Given the description of an element on the screen output the (x, y) to click on. 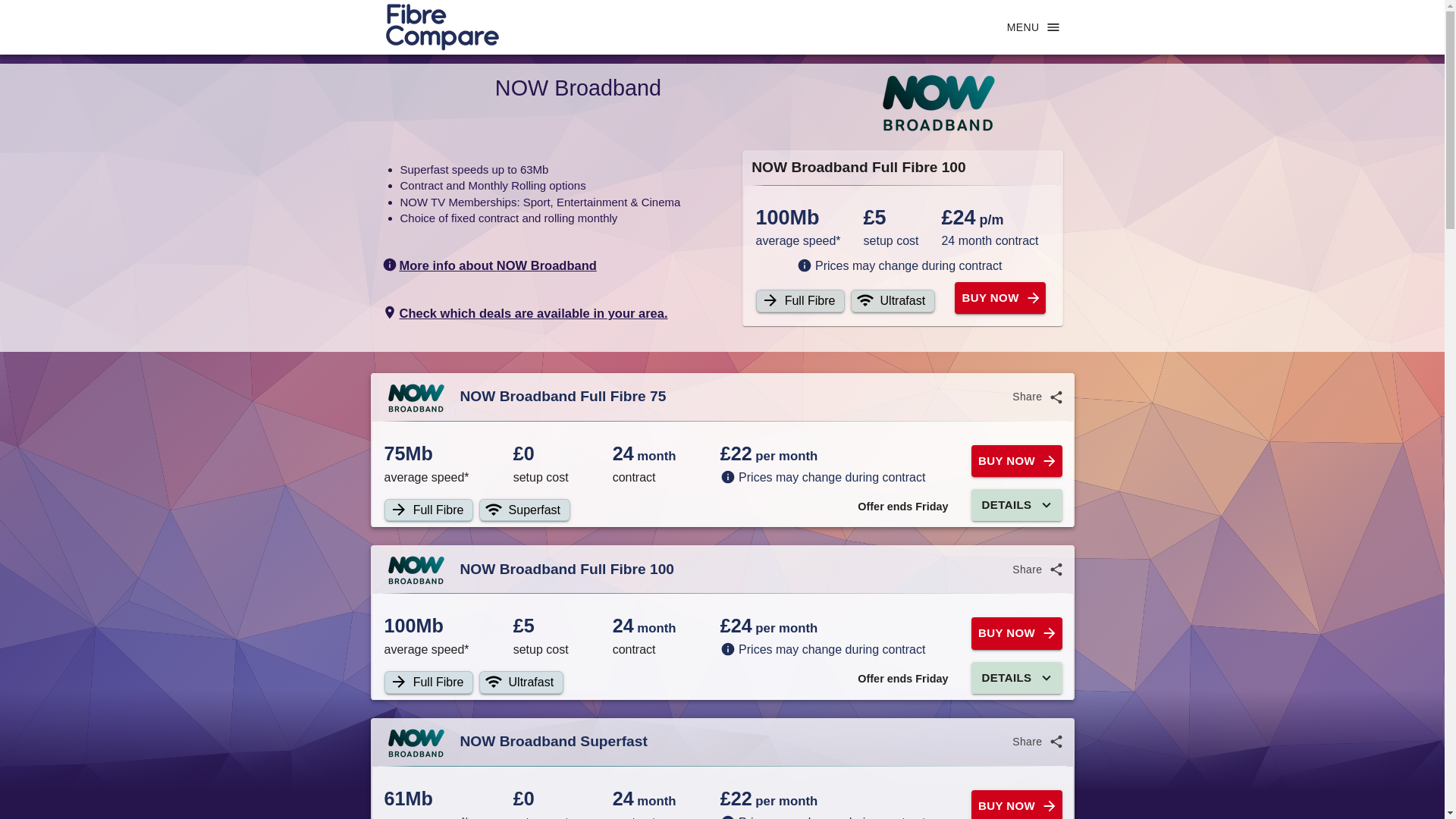
BUY NOW (1016, 633)
BUY NOW (1016, 804)
Share (1035, 741)
More info about NOW Broadband (488, 264)
Share (1035, 397)
MENU (1032, 27)
DETAILS (1016, 504)
Check which deals are available in your area. (524, 313)
Share (1035, 569)
BUY NOW (1000, 297)
